Given the description of an element on the screen output the (x, y) to click on. 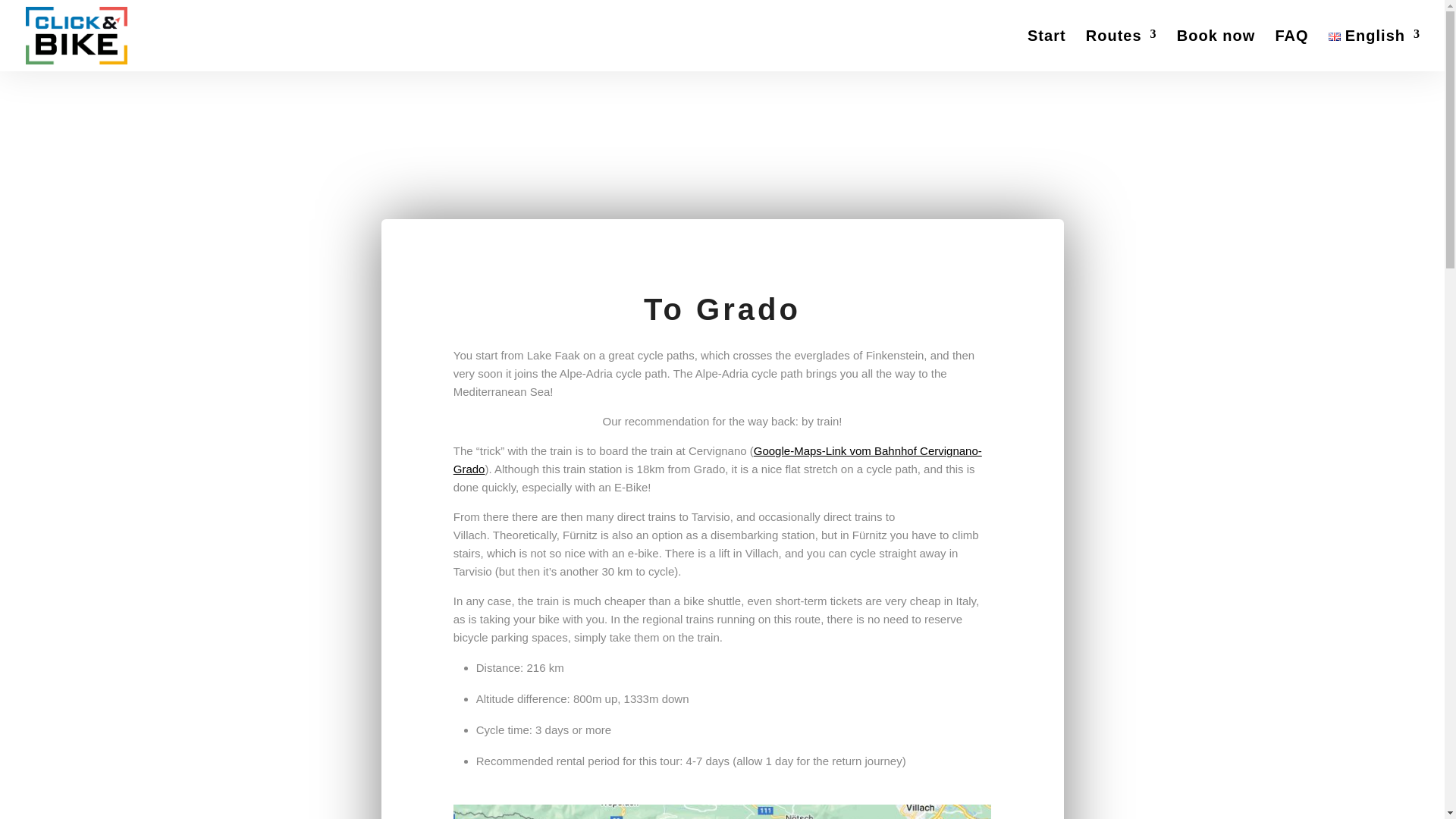
Google-Maps-Link vom Bahnhof Cervignano-Grado (716, 459)
Routes (1121, 50)
Start (1046, 50)
Karte Faaker See Grado (721, 811)
Book now (1215, 50)
English (1374, 50)
